Given the description of an element on the screen output the (x, y) to click on. 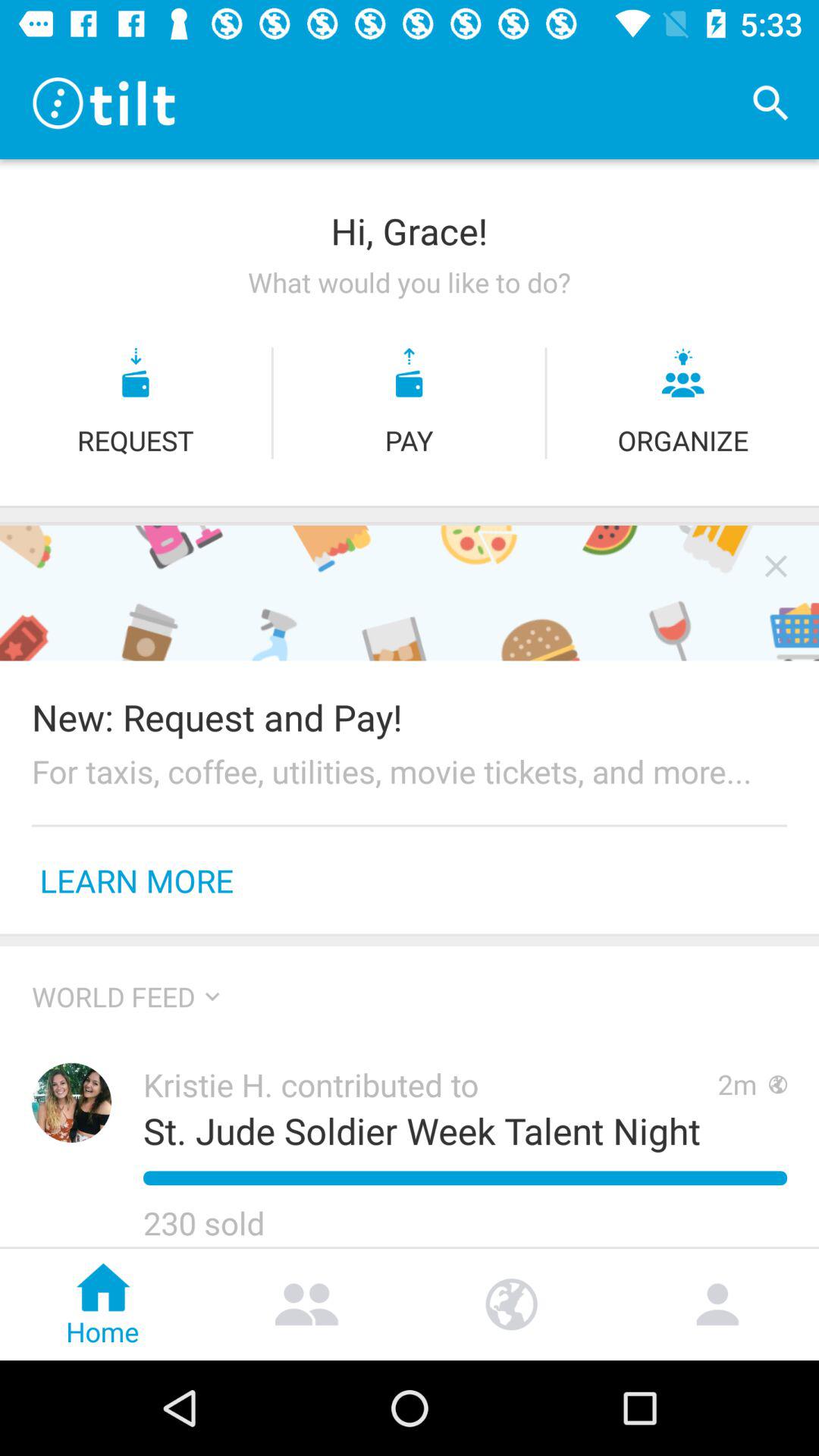
turn off the item below the new request and item (409, 770)
